Given the description of an element on the screen output the (x, y) to click on. 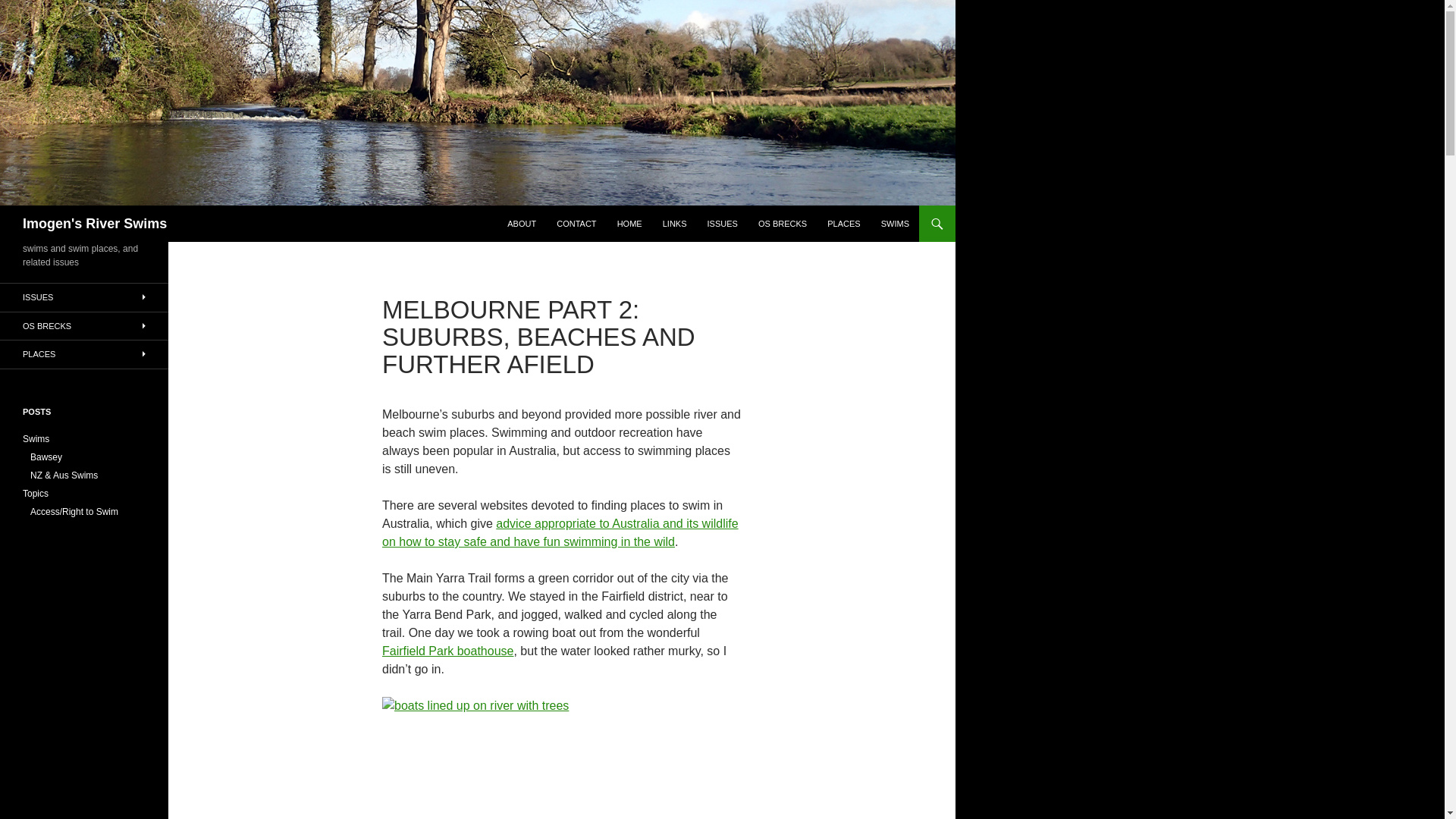
OS BRECKS (782, 223)
HOME (629, 223)
LINKS (674, 223)
SWIMS (895, 223)
ABOUT (520, 223)
CONTACT (576, 223)
Fairfield Park boathouse (447, 650)
ISSUES (722, 223)
PLACES (843, 223)
Imogen's River Swims (95, 223)
